Given the description of an element on the screen output the (x, y) to click on. 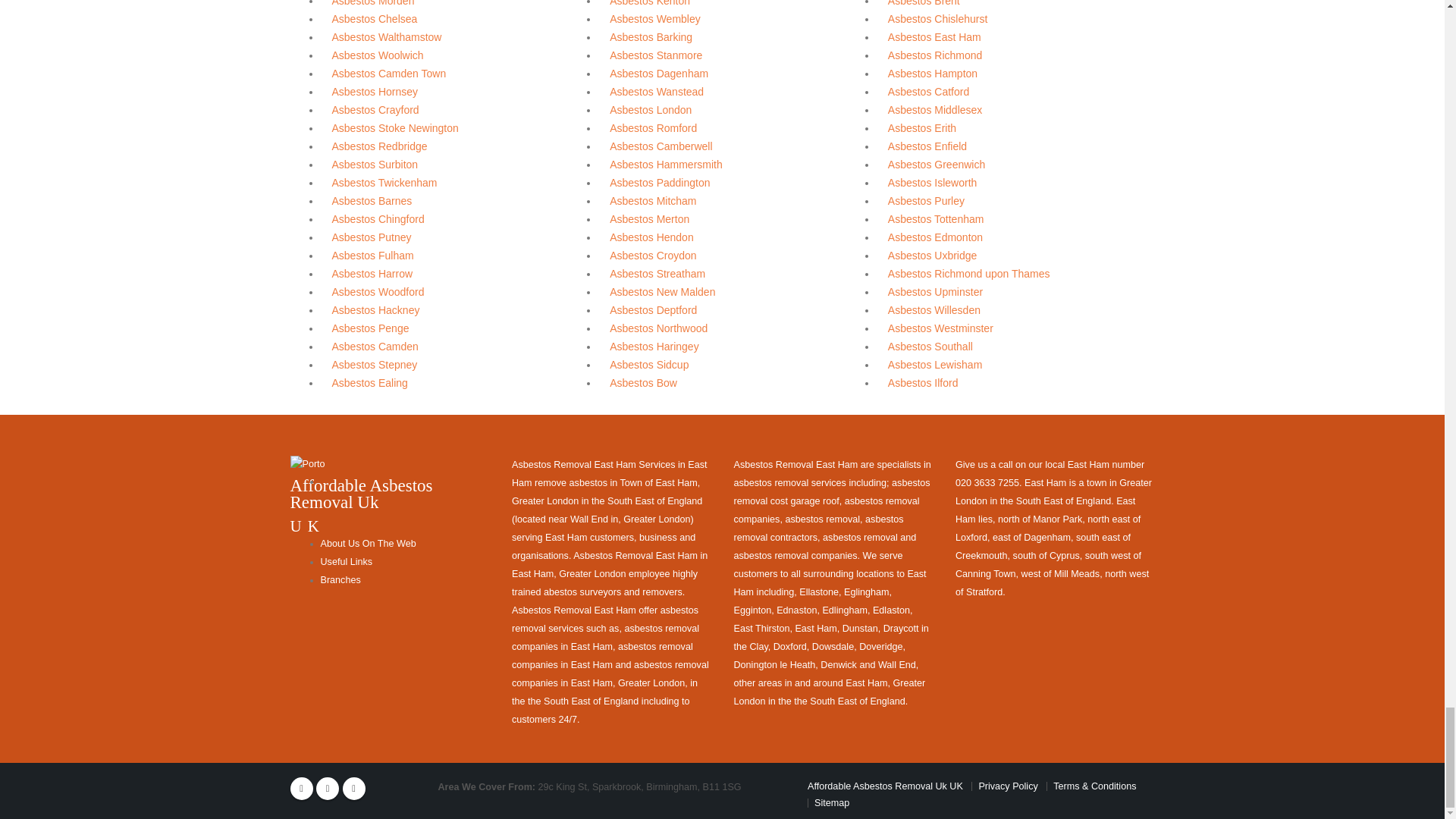
Twitter (327, 788)
Linkedin (353, 788)
Facebook (301, 788)
